Given the description of an element on the screen output the (x, y) to click on. 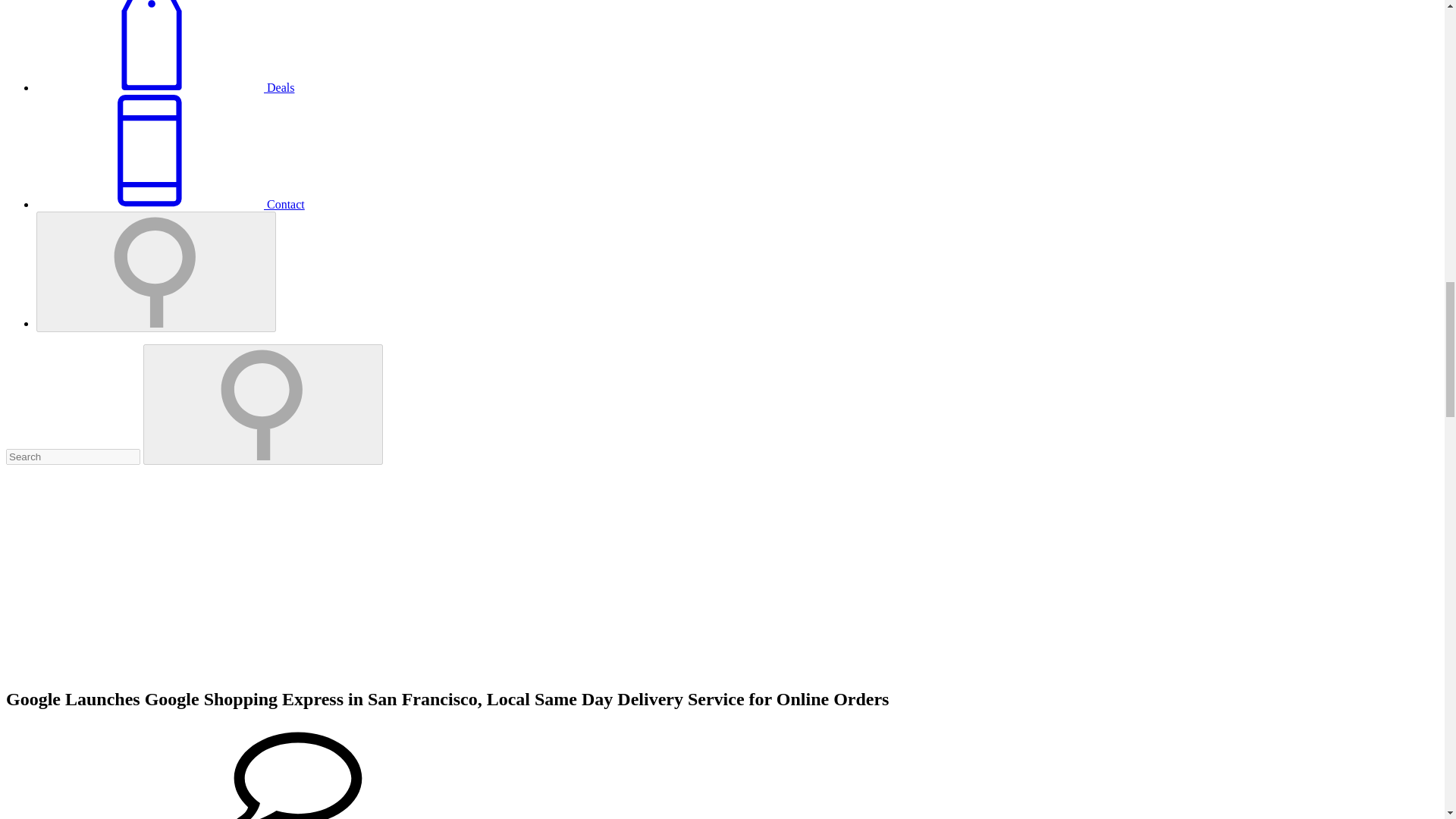
Search (262, 404)
Deals (165, 87)
Contact (170, 204)
Search for: (72, 456)
